Given the description of an element on the screen output the (x, y) to click on. 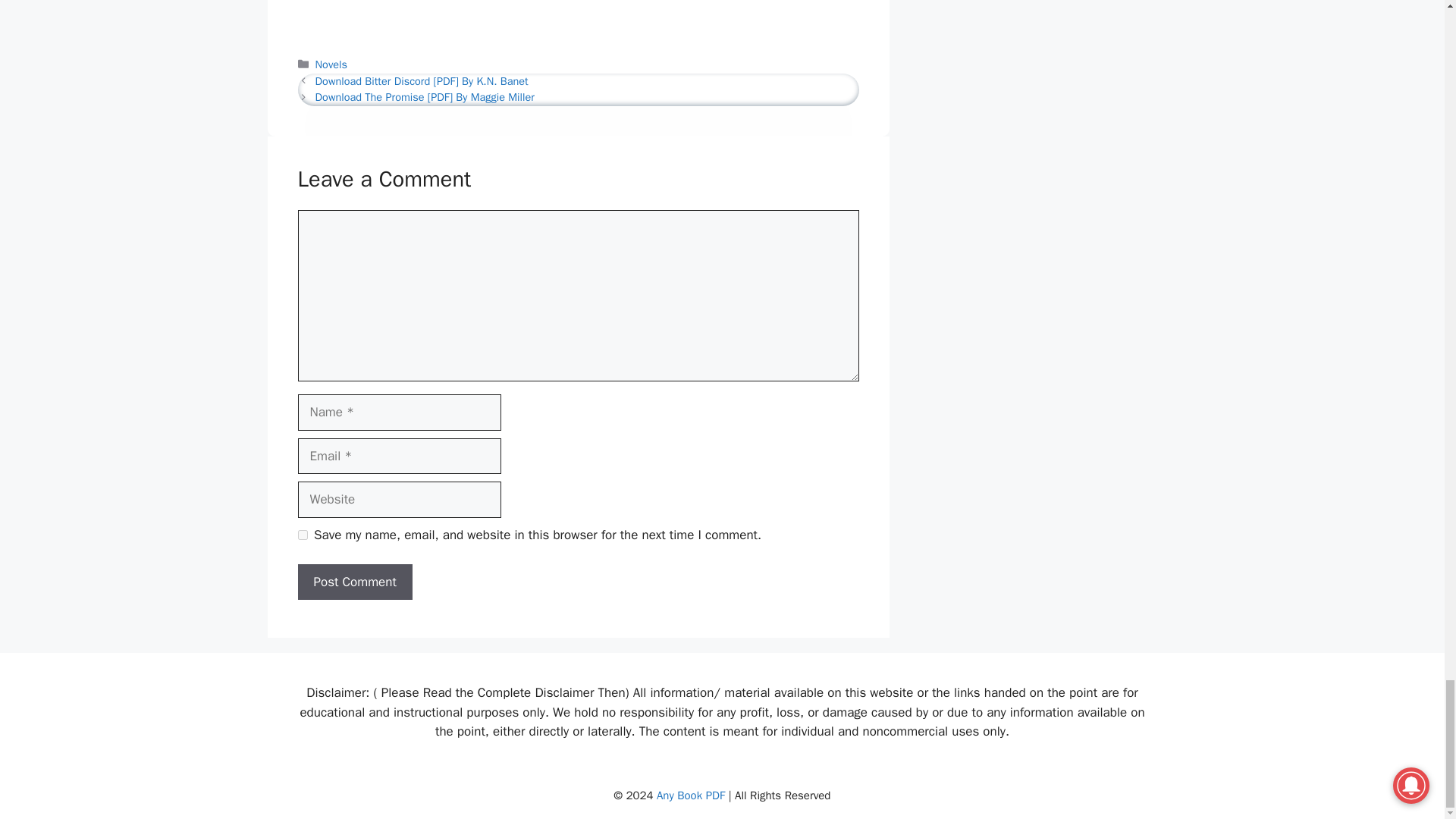
Post Comment (354, 582)
yes (302, 534)
